Given the description of an element on the screen output the (x, y) to click on. 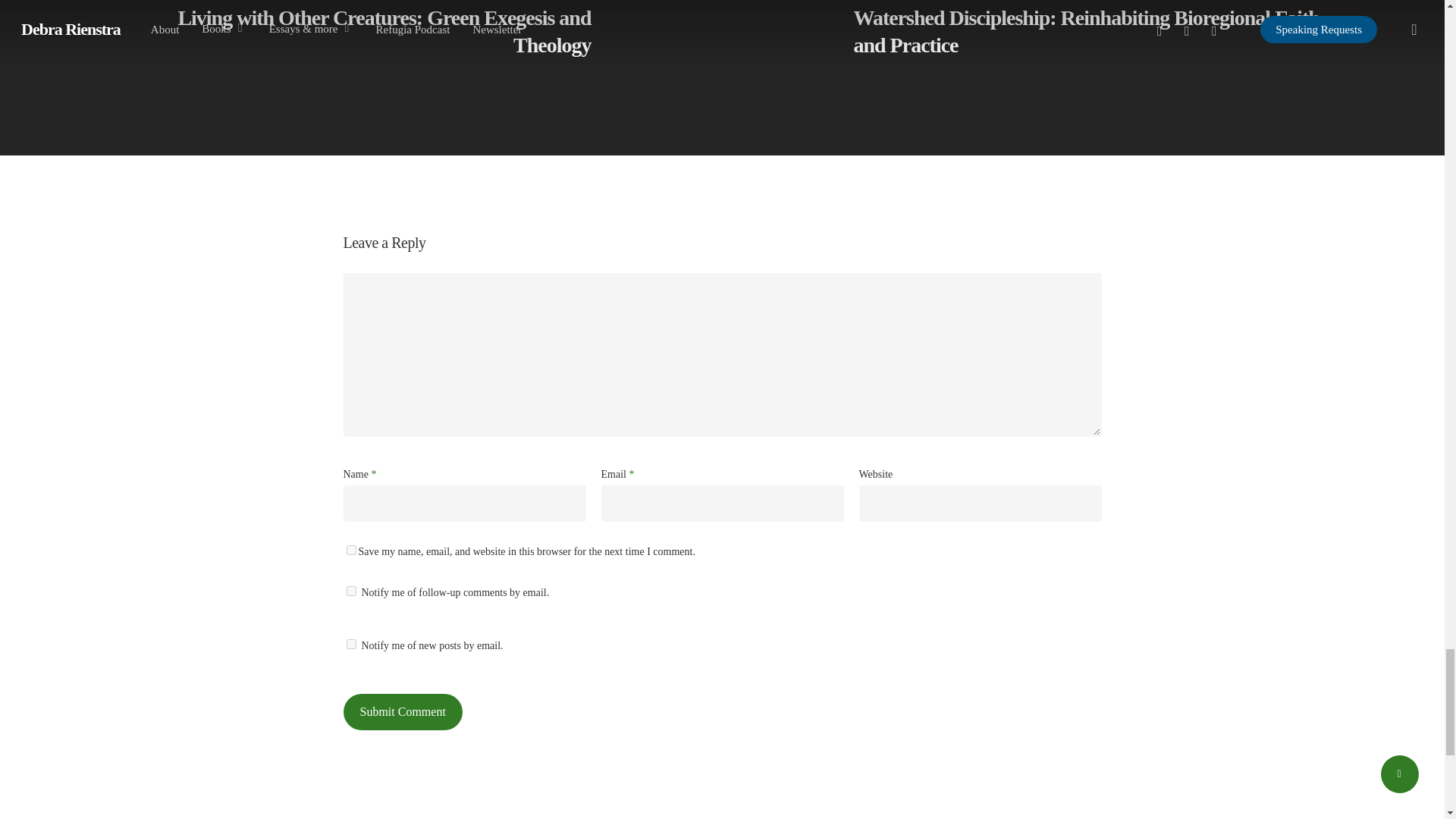
Submit Comment (401, 711)
subscribe (350, 591)
subscribe (350, 644)
yes (350, 550)
